Given the description of an element on the screen output the (x, y) to click on. 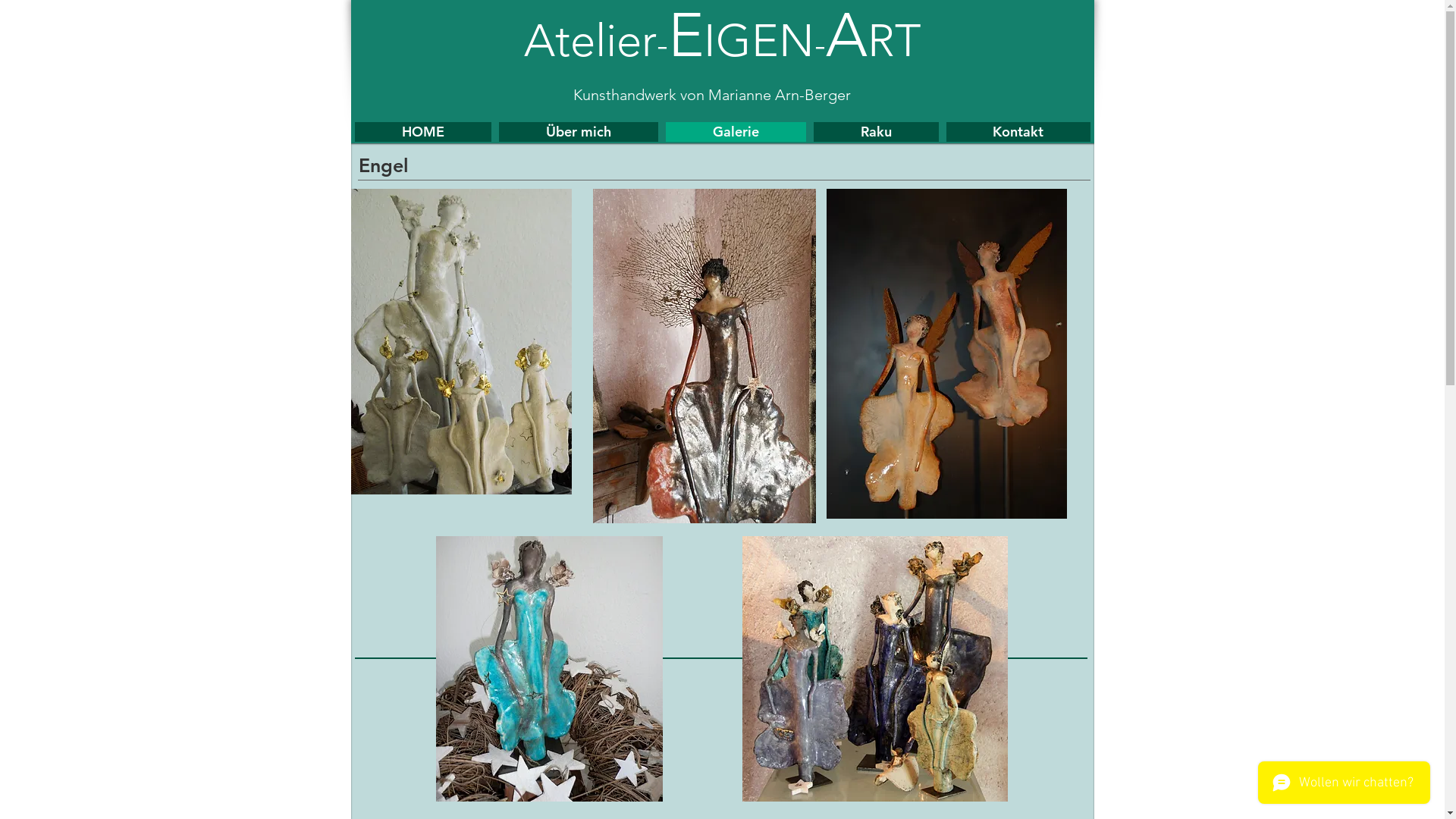
Kontakt Element type: text (1018, 131)
HOME Element type: text (422, 131)
Raku Element type: text (875, 131)
Galerie Element type: text (735, 131)
